Given the description of an element on the screen output the (x, y) to click on. 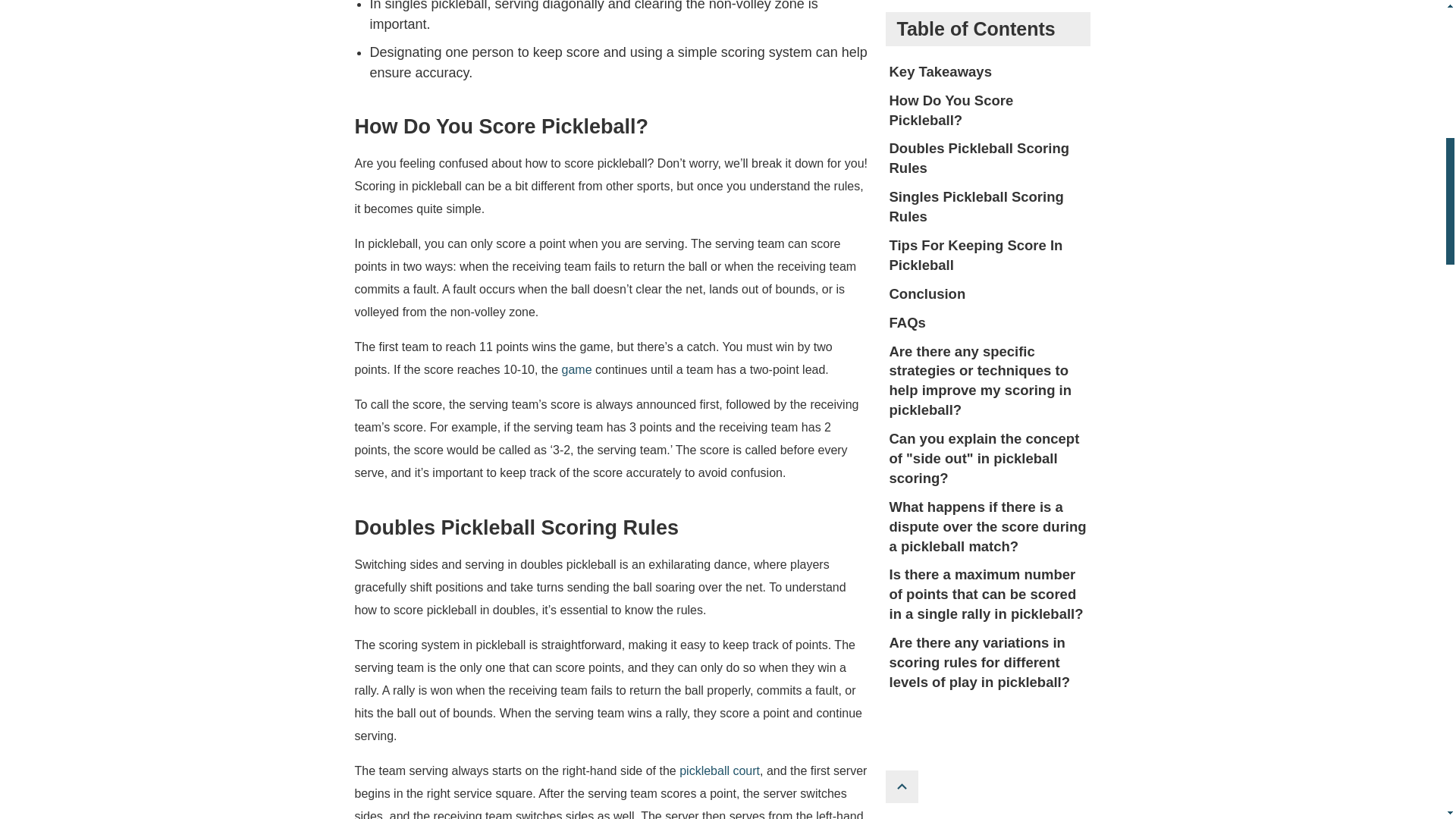
pickleball court (719, 770)
Doubles Pickleball Scoring Rules (988, 5)
Singles Pickleball Scoring Rules (988, 35)
game (577, 369)
